Given the description of an element on the screen output the (x, y) to click on. 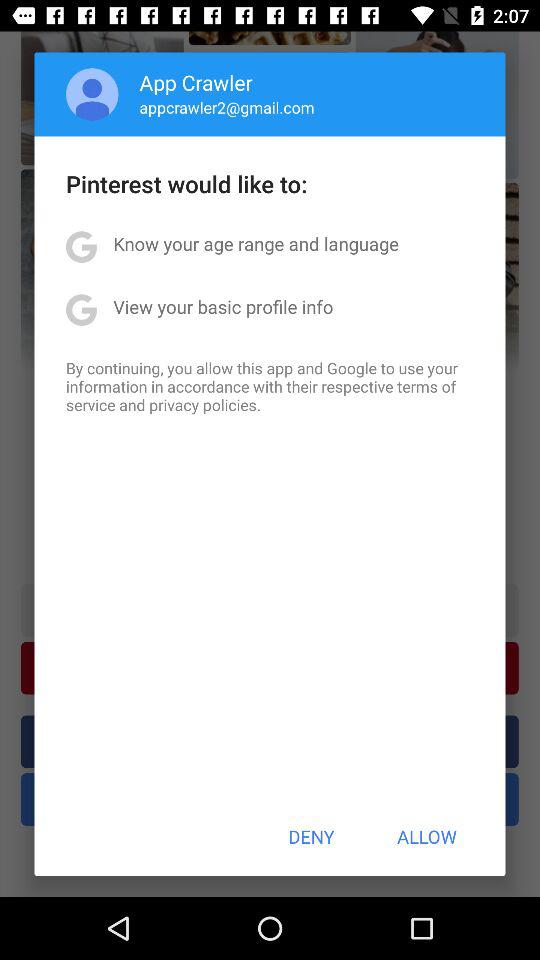
turn off icon below the app crawler item (226, 107)
